Given the description of an element on the screen output the (x, y) to click on. 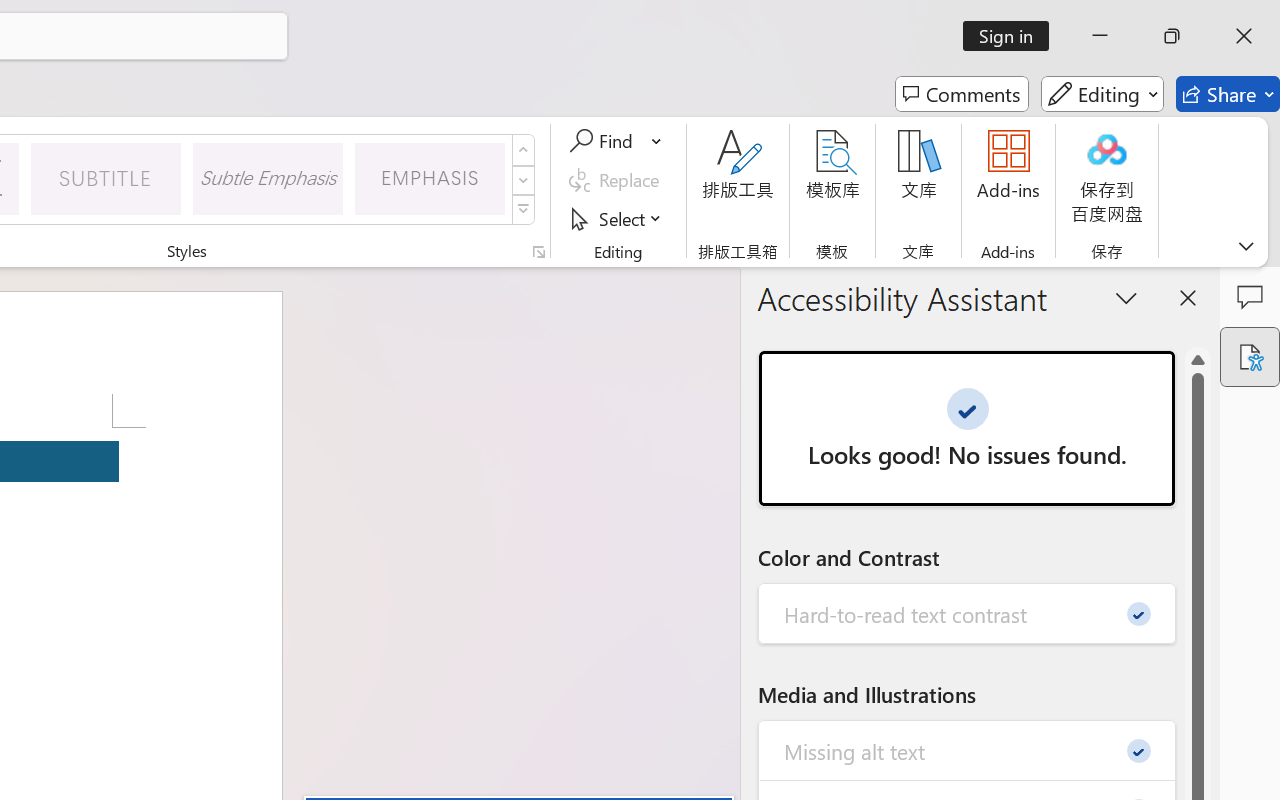
Looks good! No issues found. (966, 428)
Missing alt text - 0 (967, 750)
Hard-to-read text contrast - 0 (967, 613)
Sign in (1012, 35)
Emphasis (429, 178)
Subtle Emphasis (267, 178)
